Given the description of an element on the screen output the (x, y) to click on. 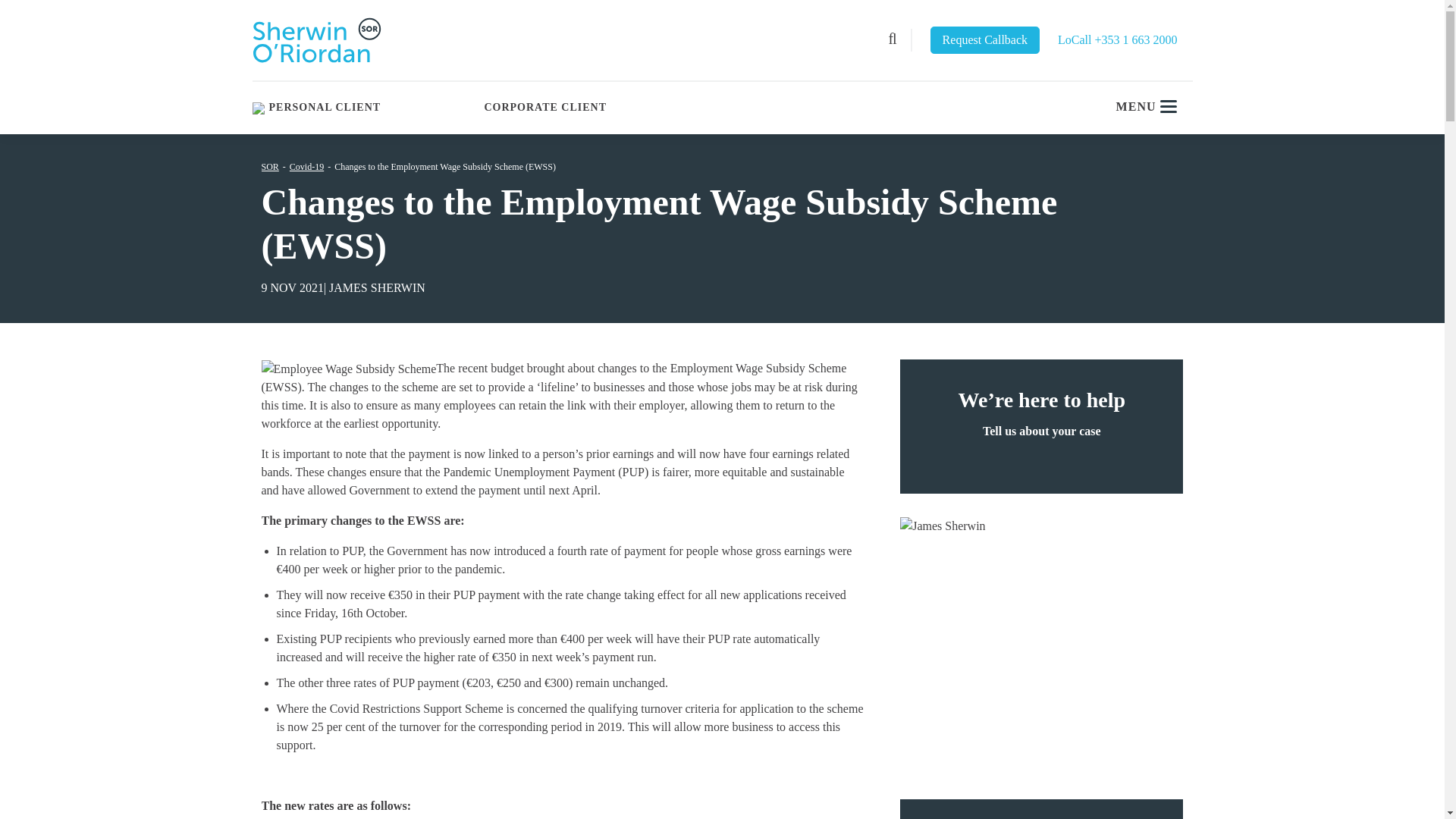
Request Callback (984, 40)
Personal Client (325, 107)
PERSONAL CLIENT (325, 107)
